Given the description of an element on the screen output the (x, y) to click on. 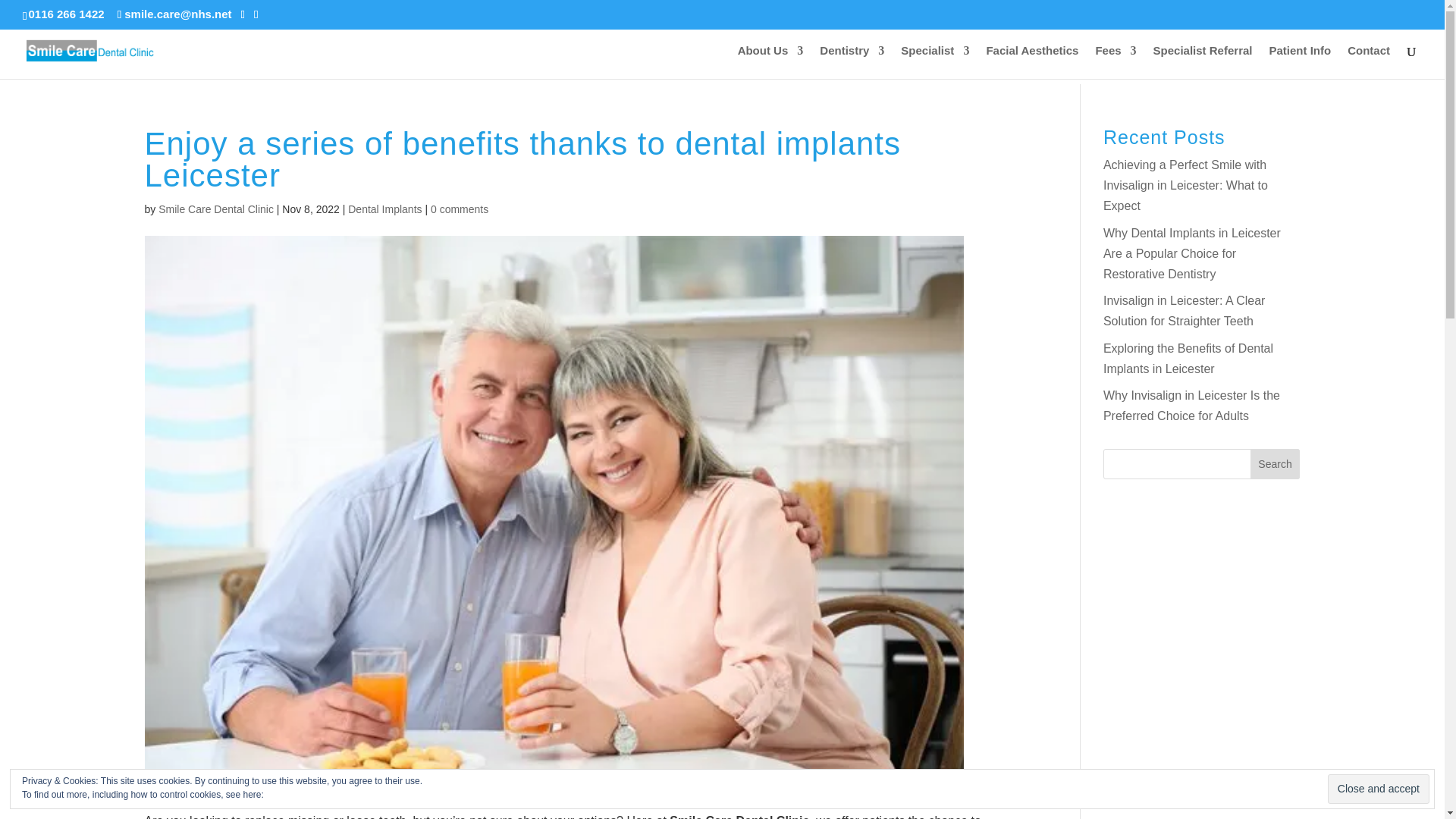
Smile Care Dental Clinic (215, 209)
Dental Implants (384, 209)
Fees (1114, 61)
Specialist (935, 61)
Search (1275, 463)
Posts by Smile Care Dental Clinic (215, 209)
Patient Info (1299, 61)
Contact (1369, 61)
Facial Aesthetics (1031, 61)
0 comments (458, 209)
